Given the description of an element on the screen output the (x, y) to click on. 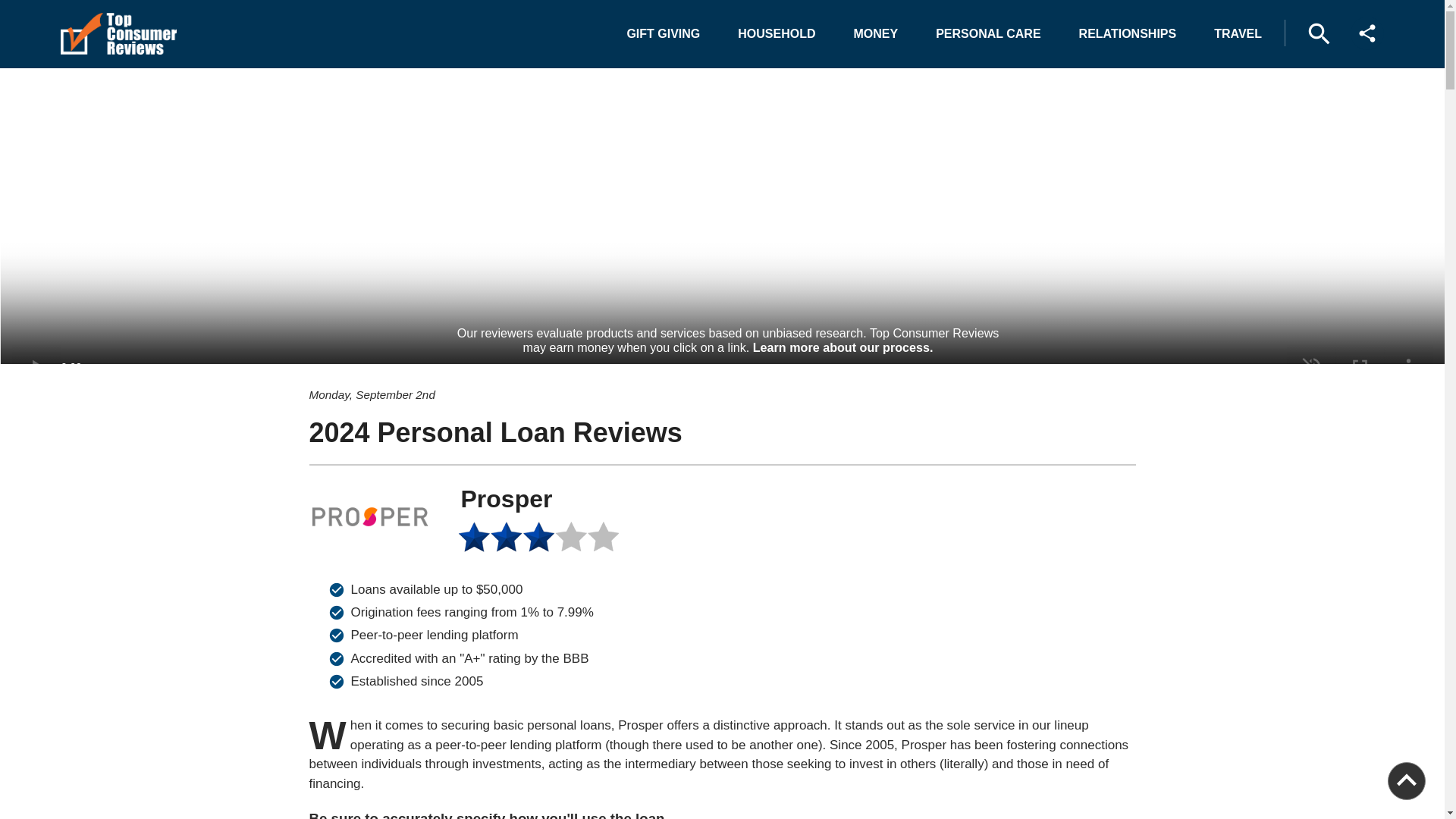
PERSONAL CARE (987, 33)
TRAVEL (1237, 33)
Search Top Consumer Reviews (1318, 33)
HOUSEHOLD (775, 33)
Share Top Consumer Reviews (1367, 32)
MONEY (876, 33)
RELATIONSHIPS (1128, 33)
GIFT GIVING (662, 33)
